Given the description of an element on the screen output the (x, y) to click on. 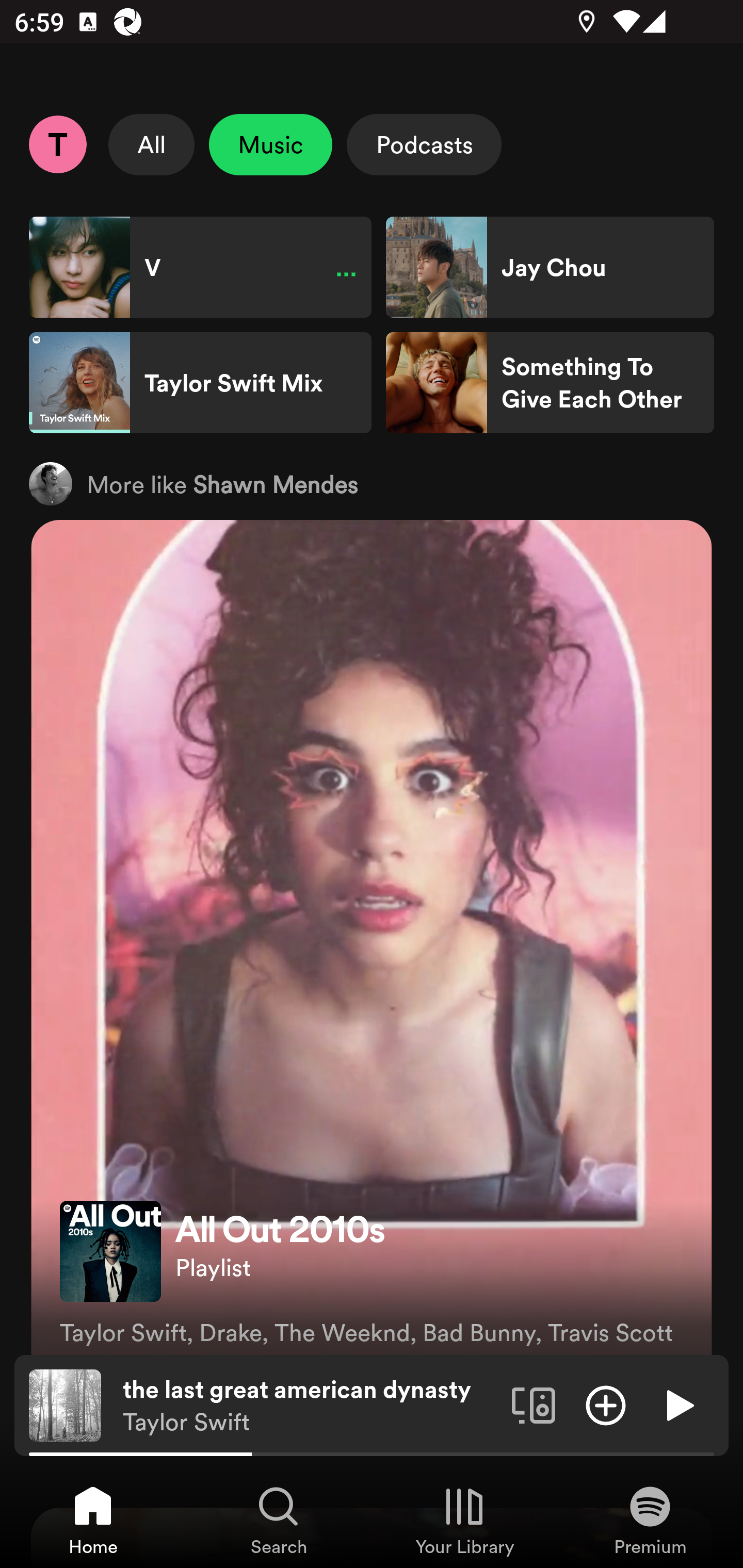
Profile (57, 144)
All Select All (151, 144)
Music Unselect Music (270, 144)
Podcasts Select Podcasts (423, 144)
V Shortcut V Paused (199, 267)
Jay Chou Shortcut Jay Chou (549, 267)
Taylor Swift Mix Shortcut Taylor Swift Mix (199, 382)
More like Shawn Mendes (371, 483)
the last great american dynasty Taylor Swift (309, 1405)
The cover art of the currently playing track (64, 1404)
Connect to a device. Opens the devices menu (533, 1404)
Add item (605, 1404)
Play (677, 1404)
Home, Tab 1 of 4 Home Home (92, 1519)
Search, Tab 2 of 4 Search Search (278, 1519)
Your Library, Tab 3 of 4 Your Library Your Library (464, 1519)
Premium, Tab 4 of 4 Premium Premium (650, 1519)
